Given the description of an element on the screen output the (x, y) to click on. 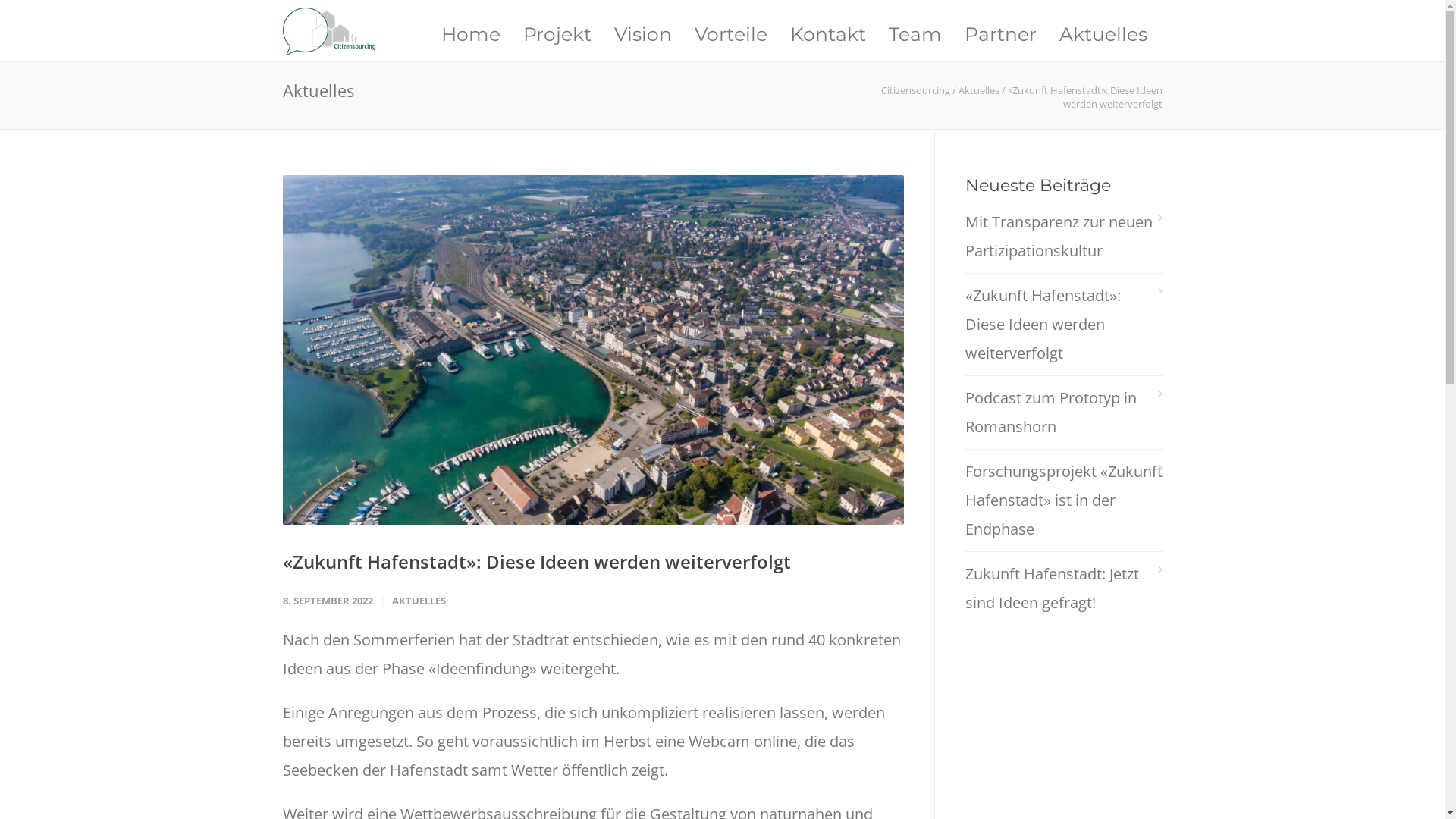
Mit Transparenz zur neuen Partizipationskultur Element type: text (1062, 236)
Kontakt Element type: text (827, 33)
Vorteile Element type: text (730, 33)
Podcast zum Prototyp in Romanshorn Element type: text (1062, 412)
Projekt Element type: text (556, 33)
Aktuelles Element type: text (1103, 33)
Home Element type: text (470, 33)
Vision Element type: text (642, 33)
Partner Element type: text (999, 33)
Aktuelles Element type: text (978, 90)
Team Element type: text (914, 33)
AKTUELLES Element type: text (418, 600)
Citizensourcing Element type: text (915, 90)
Zukunft Hafenstadt: Jetzt sind Ideen gefragt! Element type: text (1062, 588)
